Given the description of an element on the screen output the (x, y) to click on. 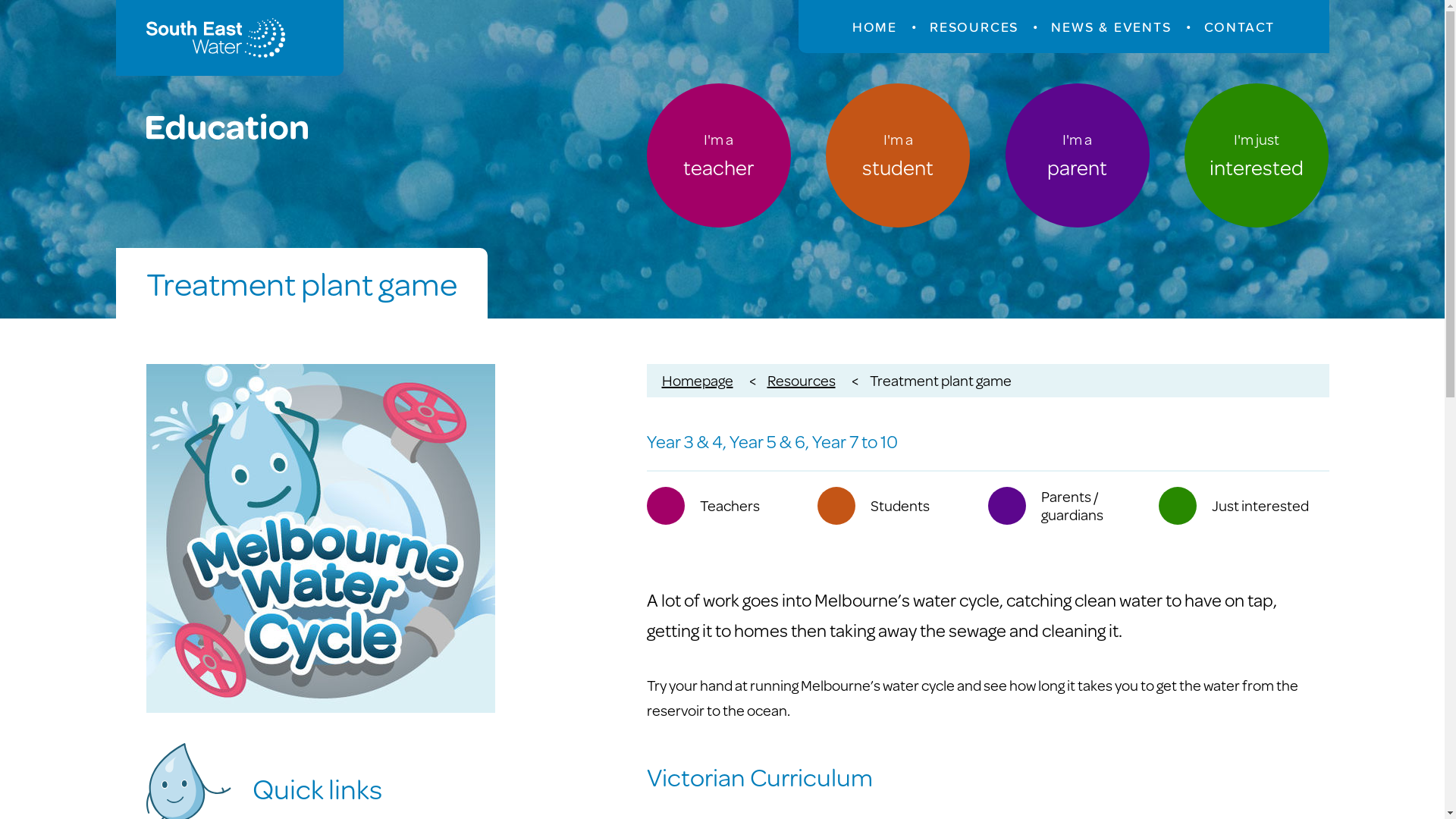
HOME Element type: text (874, 27)
I'm a
student Element type: text (897, 155)
Homepage Element type: text (696, 380)
NEWS & EVENTS Element type: text (1110, 27)
I'm a
teacher Element type: text (718, 155)
South East Water Education Element type: text (228, 37)
CONTACT Element type: text (1239, 27)
I'm just
interested Element type: text (1256, 155)
I'm a
parent Element type: text (1077, 155)
RESOURCES Element type: text (973, 27)
Resources Element type: text (801, 380)
